Given the description of an element on the screen output the (x, y) to click on. 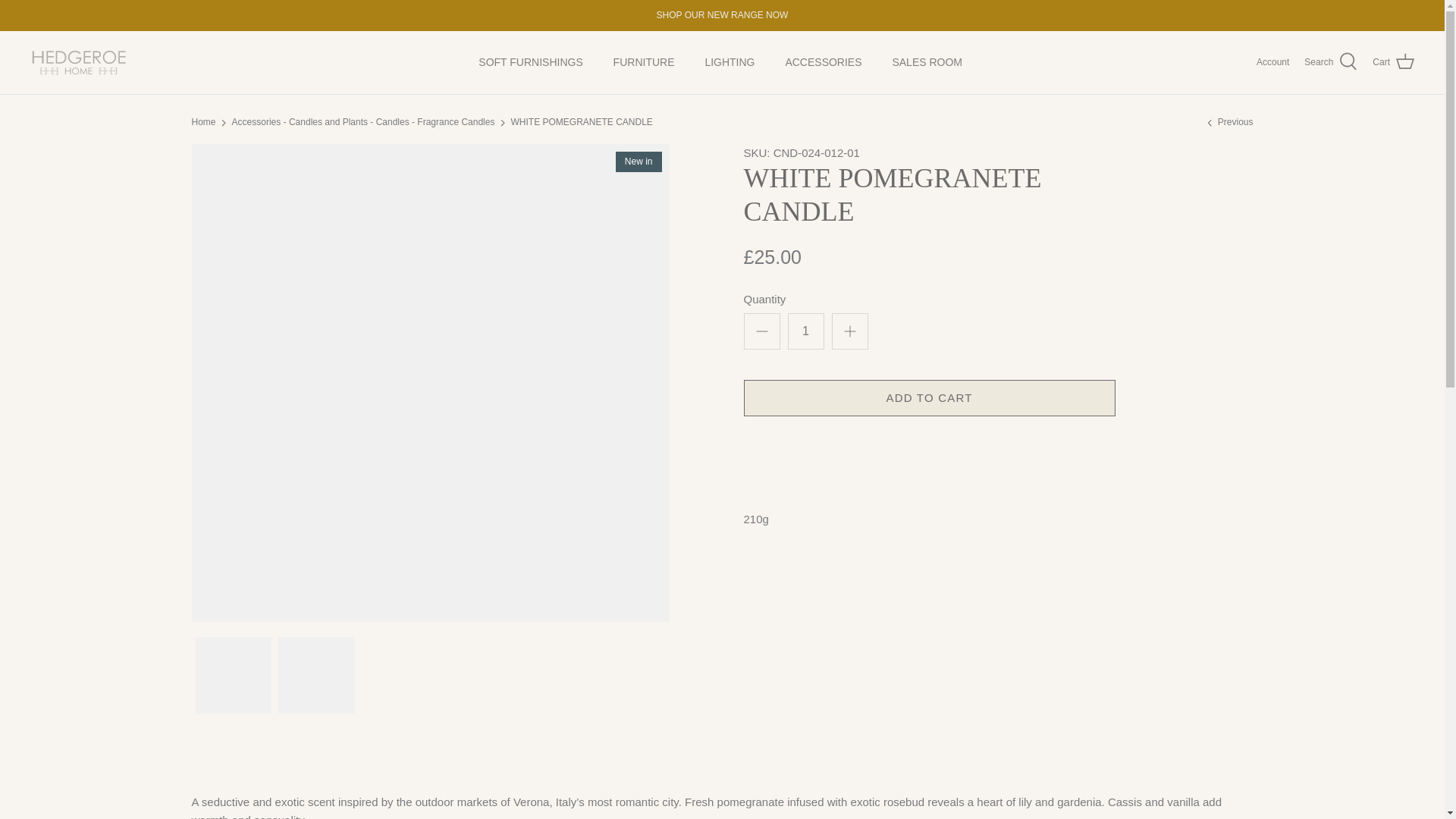
Minus (761, 331)
Cart (1393, 62)
LIGHTING (729, 61)
SALES ROOM (926, 61)
Search (1330, 62)
SHOP OUR NEW RANGE NOW (722, 15)
FURNITURE (643, 61)
Hedgeroe Home (79, 61)
Plus (849, 331)
Account (1272, 62)
SOFT FURNISHINGS (529, 61)
1 (805, 330)
ACCESSORIES (823, 61)
